Given the description of an element on the screen output the (x, y) to click on. 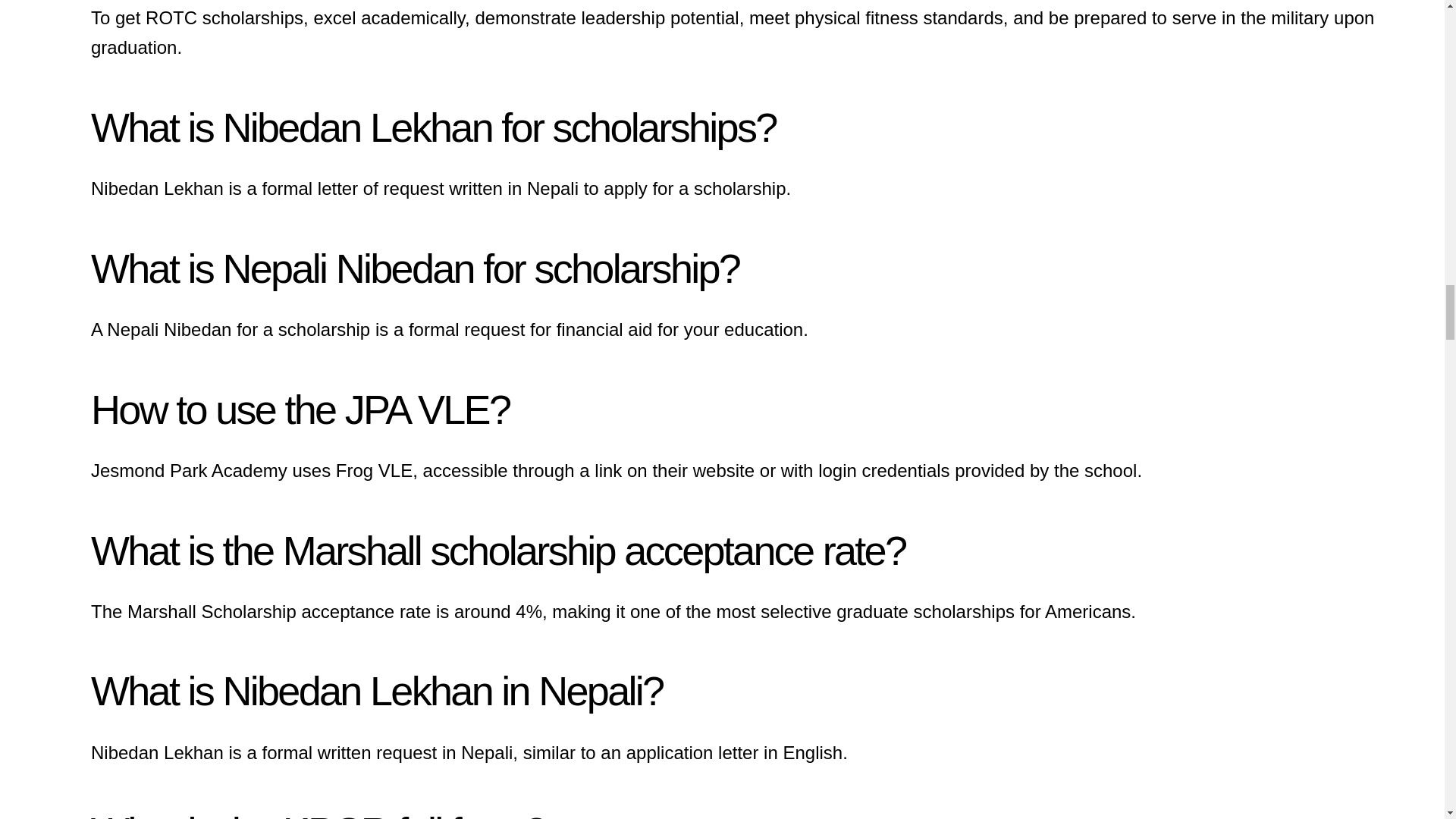
What is the KPCR full form? (317, 814)
How to use the JPA VLE? (299, 409)
What is Nibedan Lekhan for scholarships? (433, 126)
What is Nepali Nibedan for scholarship? (414, 268)
What is Nibedan Lekhan in Nepali? (376, 690)
What is the Marshall scholarship acceptance rate? (497, 550)
